Given the description of an element on the screen output the (x, y) to click on. 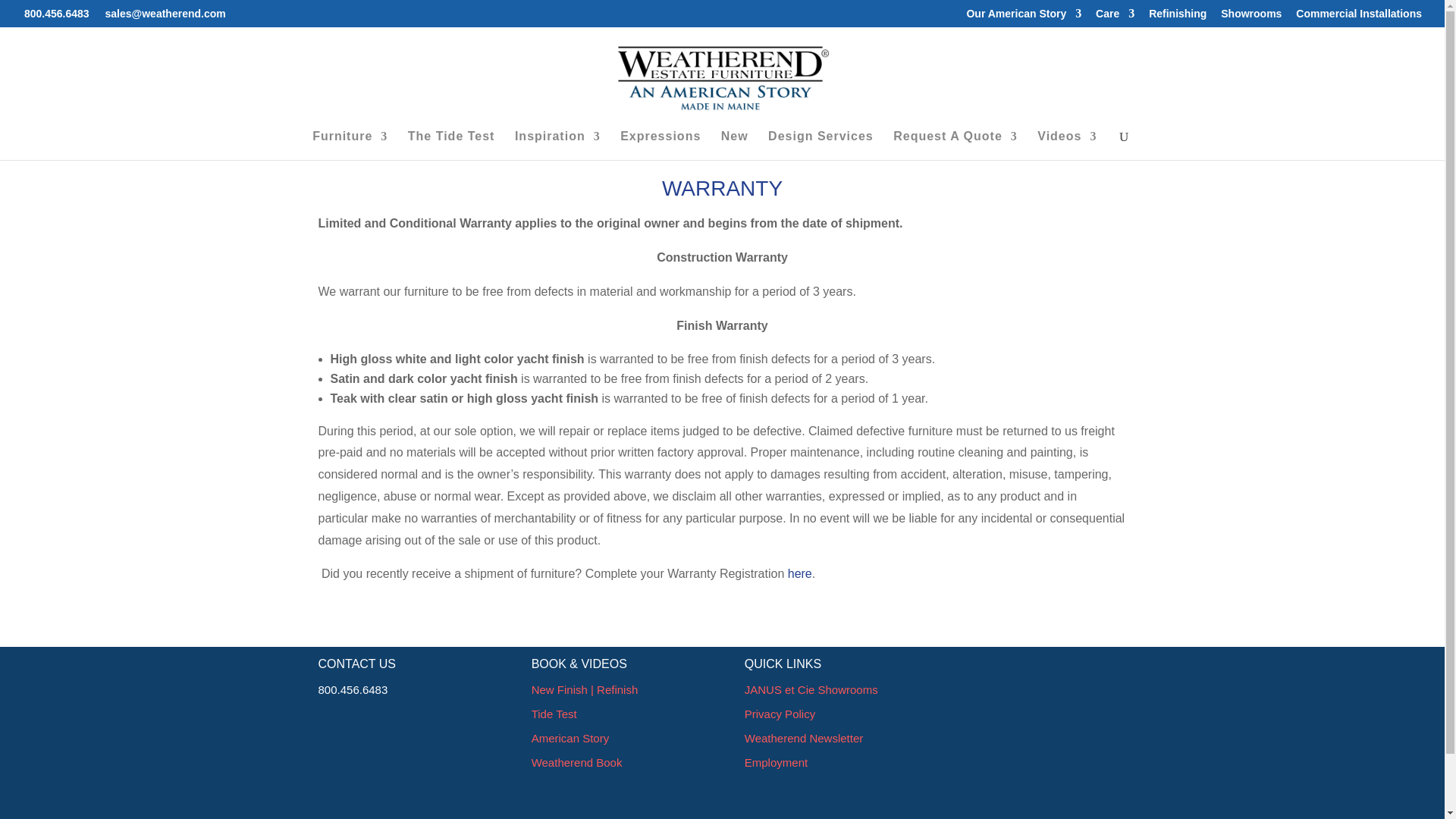
Refinishing (1177, 16)
Furniture (350, 145)
Commercial Installations (1358, 16)
Showrooms (1251, 16)
Care (1115, 16)
Inspiration (557, 145)
Our American Story (1023, 16)
The Tide Test (451, 145)
